Given the description of an element on the screen output the (x, y) to click on. 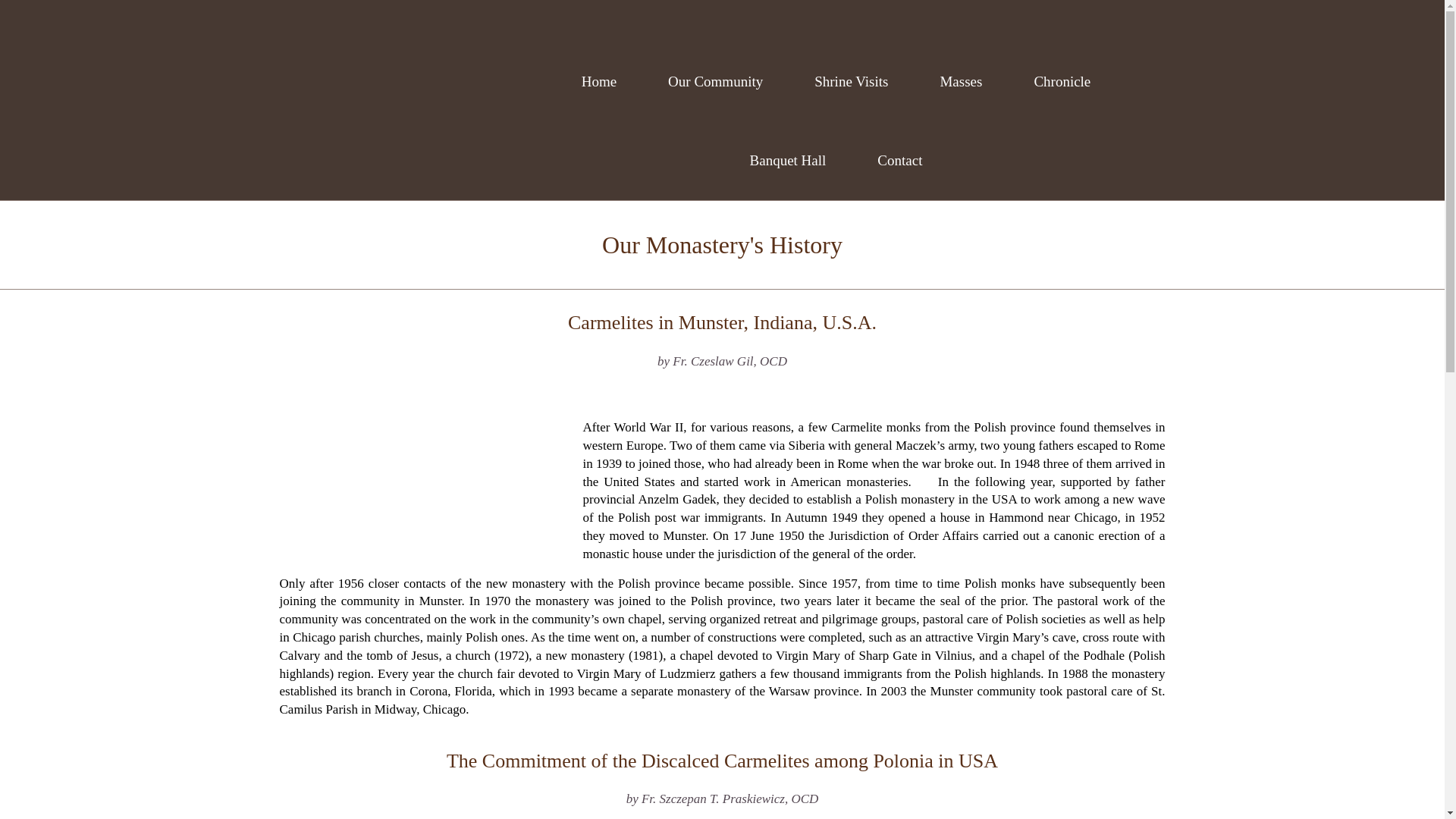
Banquet Hall (787, 160)
Masses (960, 81)
Home (599, 81)
Chronicle (1061, 81)
Contact (899, 160)
Shrine Visits (851, 81)
Our Community (715, 81)
